Given the description of an element on the screen output the (x, y) to click on. 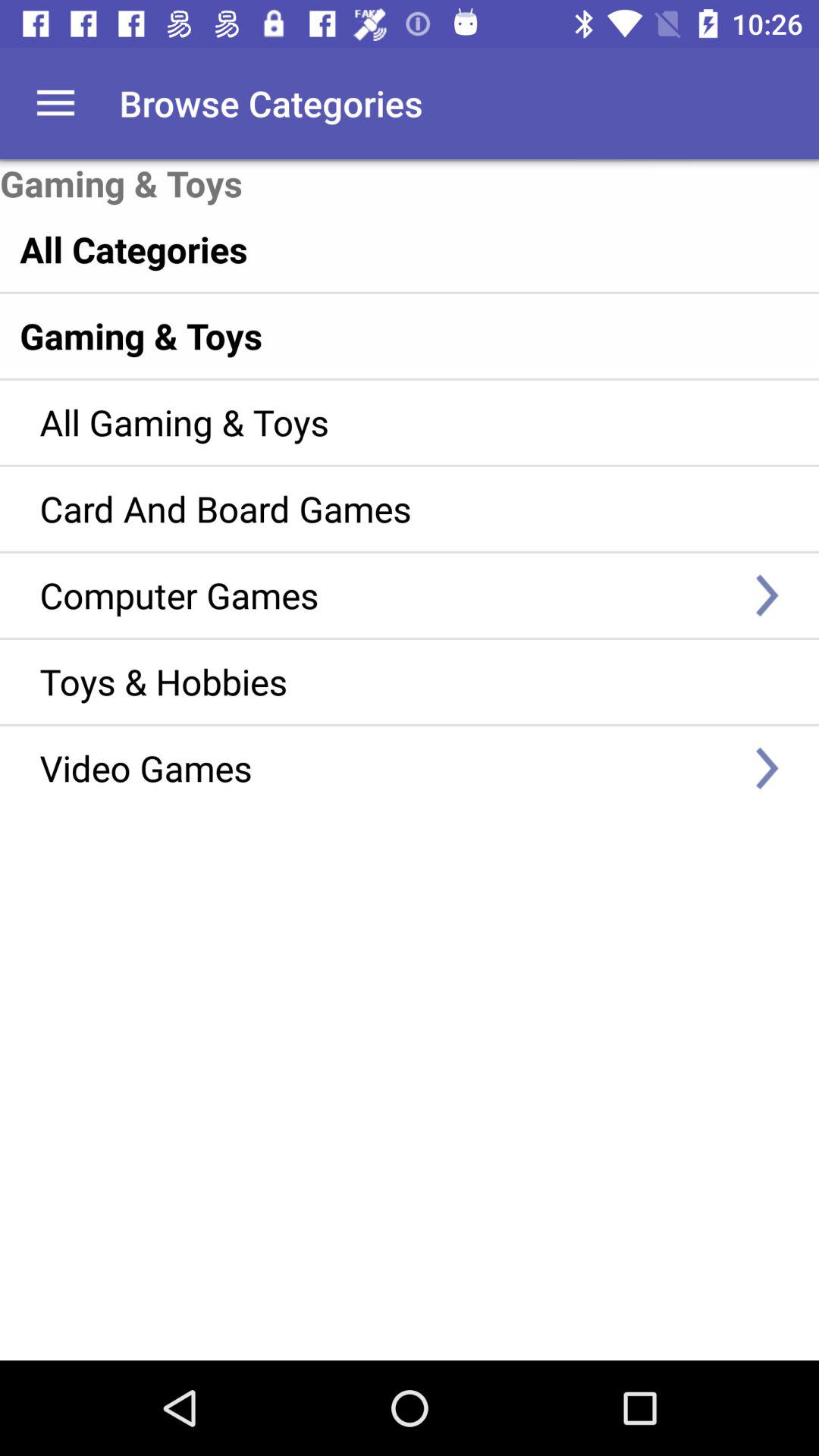
tap the computer games (387, 595)
